Given the description of an element on the screen output the (x, y) to click on. 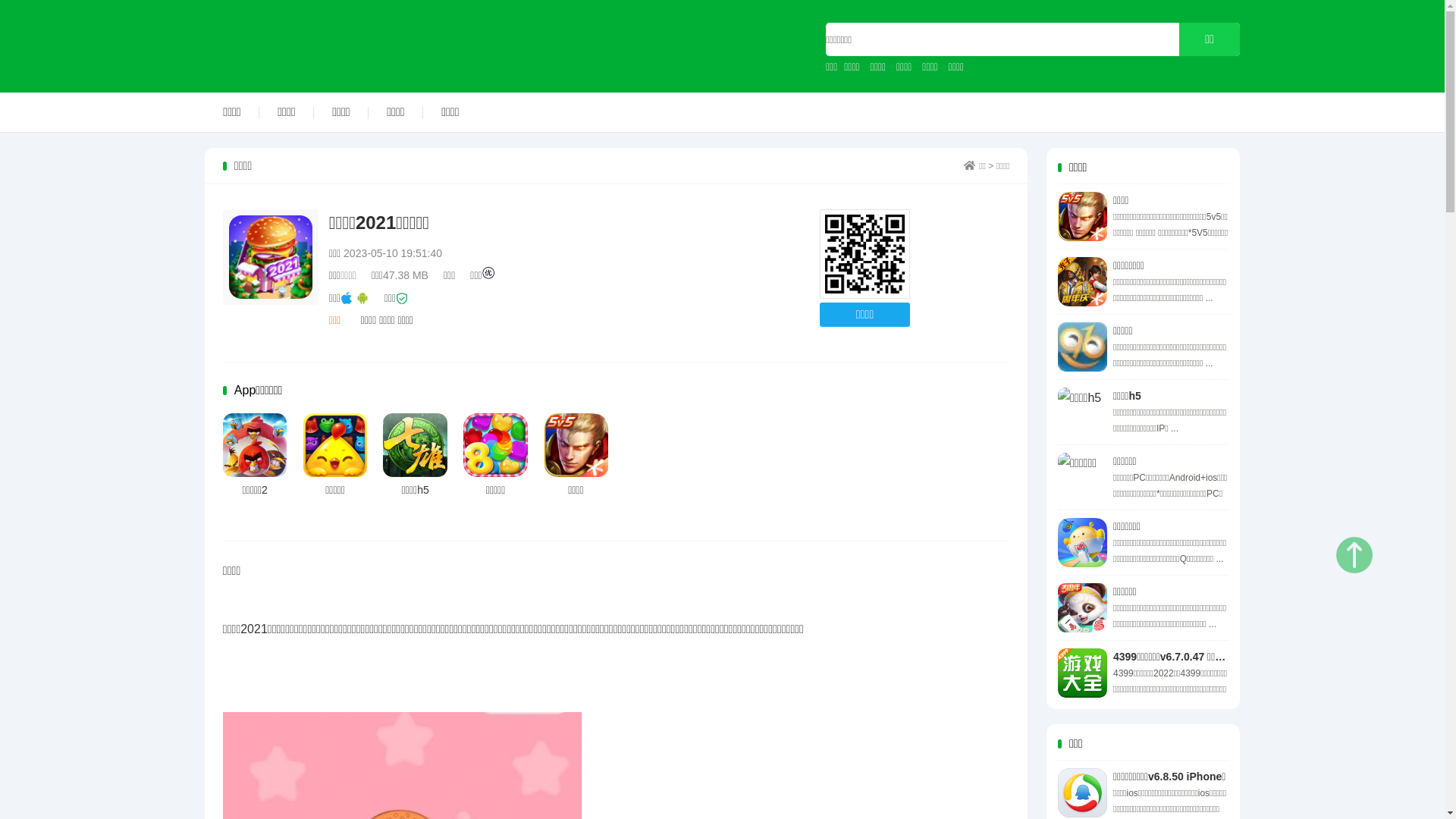
http://www.818app.com Element type: hover (864, 254)
